Given the description of an element on the screen output the (x, y) to click on. 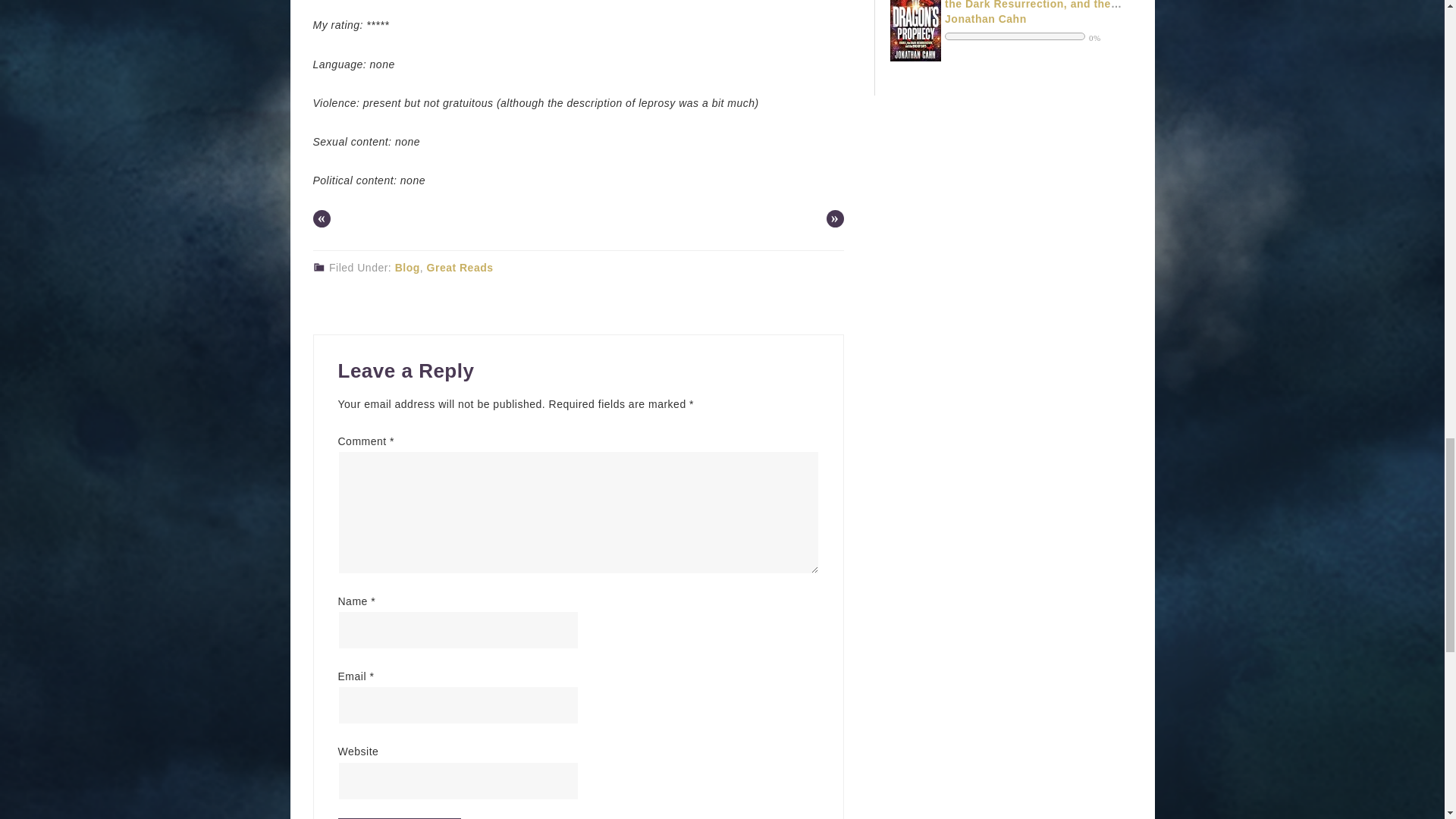
Next Post: Starflight by Melissa Landers (835, 218)
Previous Post: And Then There Were None, Agatha Christie (321, 218)
